Given the description of an element on the screen output the (x, y) to click on. 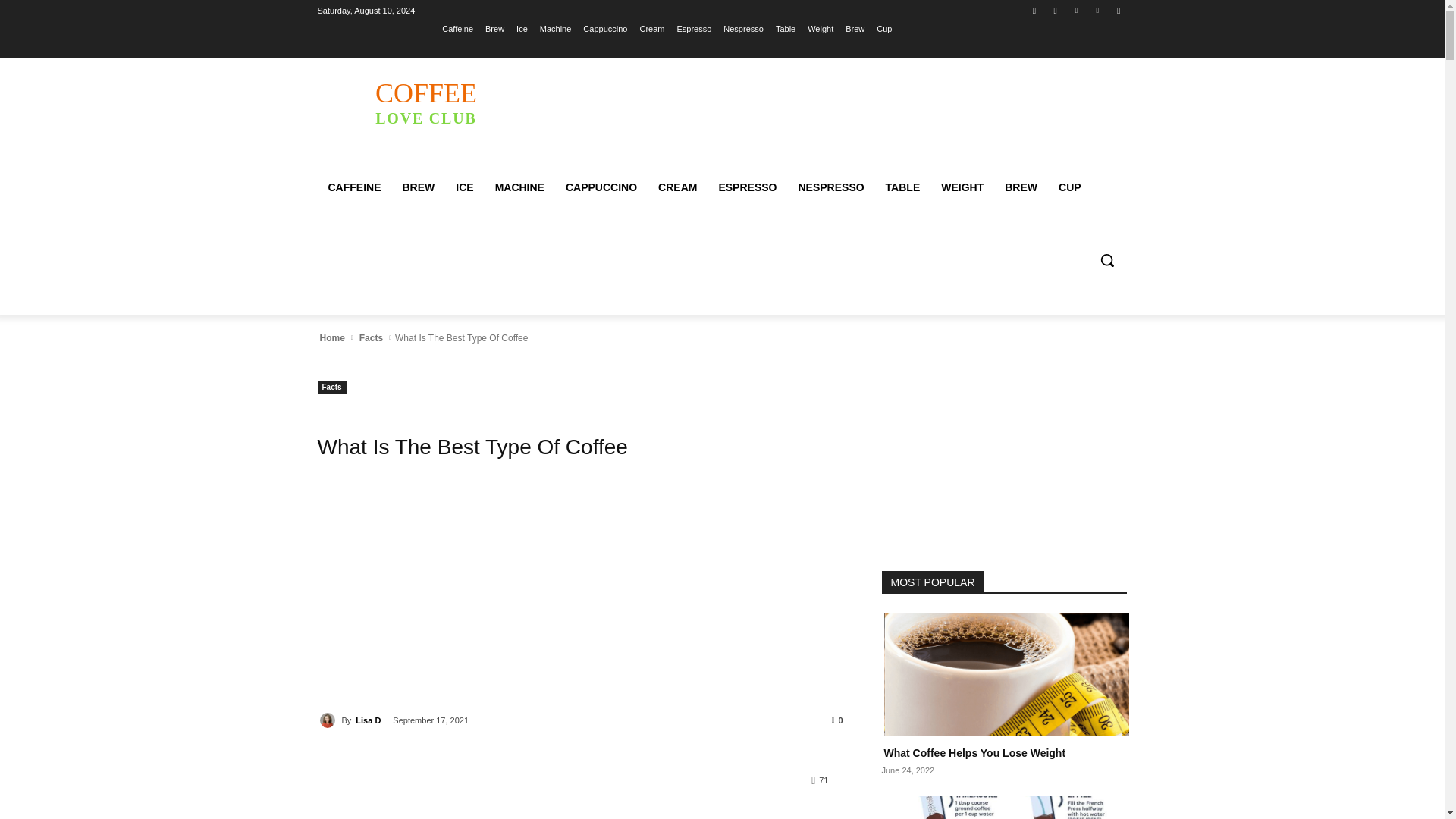
Youtube (1117, 9)
Weight (820, 28)
Brew (854, 28)
Machine (556, 28)
Cream (651, 28)
Facebook (1034, 9)
Nespresso (742, 28)
Instagram (1055, 9)
View all posts in Facts (370, 337)
Lisa D (328, 720)
